Given the description of an element on the screen output the (x, y) to click on. 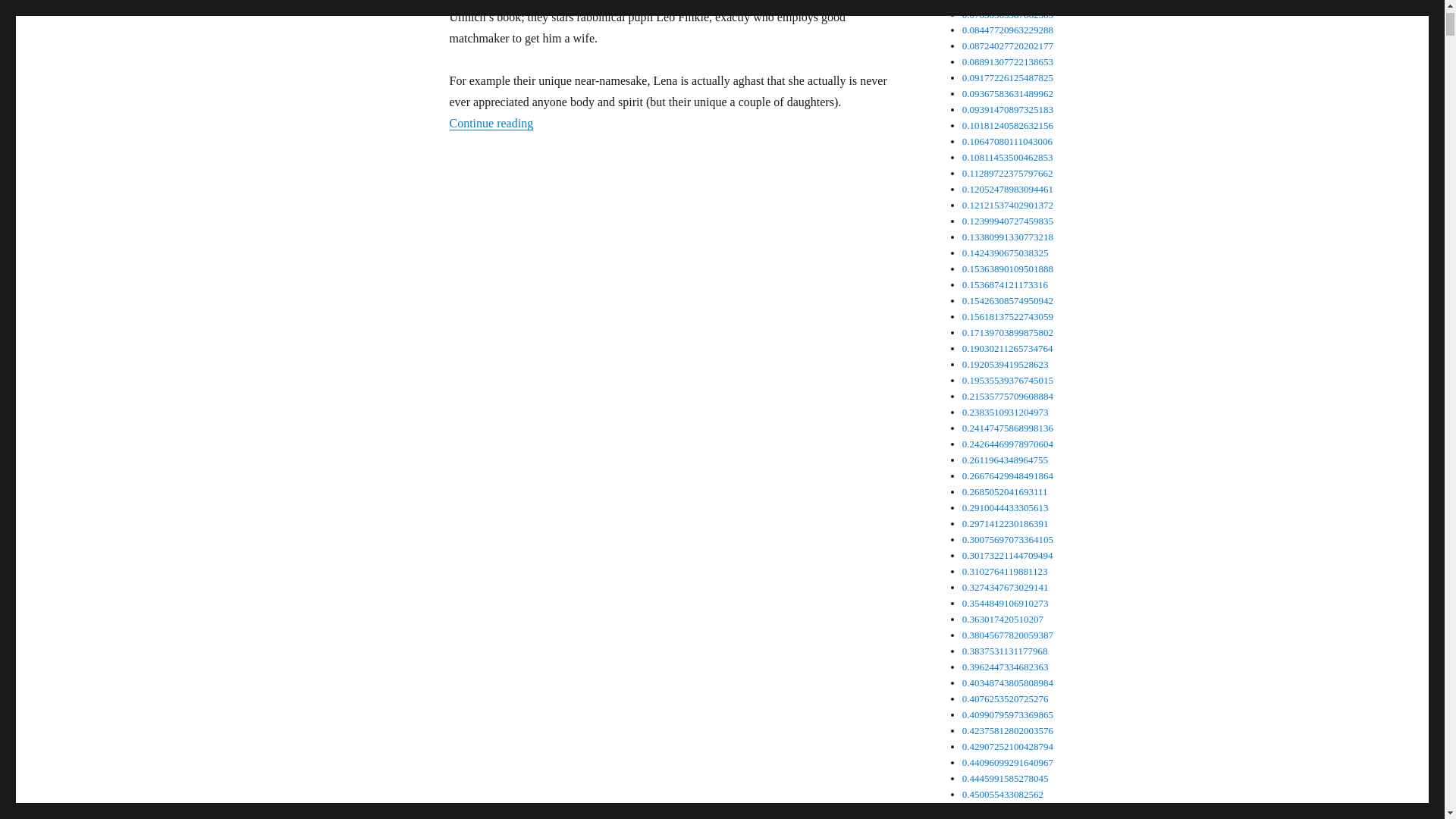
0.09391470897325183 (1007, 109)
0.09367583631489962 (1007, 93)
0.08447720963229288 (1007, 30)
0.10647080111043006 (1007, 141)
0.07030565587062365 (1007, 14)
0.10811453500462853 (1007, 156)
0.08724027720202177 (1007, 45)
0.11289722375797662 (1007, 173)
0.038674021625345056 (1010, 2)
0.09177226125487825 (1007, 77)
0.08891307722138653 (1007, 61)
0.10181240582632156 (1007, 125)
